Given the description of an element on the screen output the (x, y) to click on. 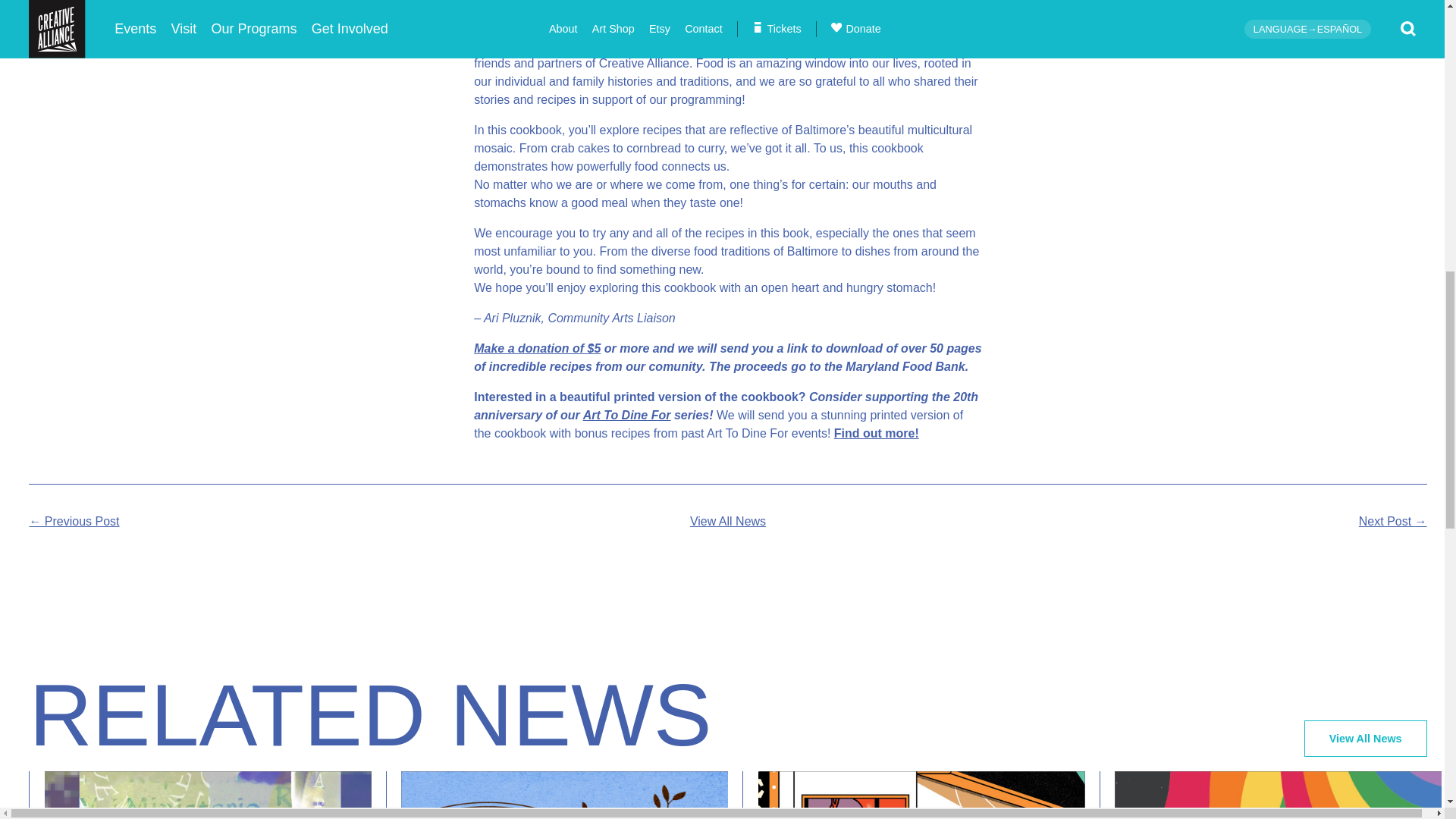
2024 Pride Month at Creative Alliance (1270, 795)
NEWS (580, 714)
Announcing Art To Dine For 2024! (557, 795)
Announcing Art To Dine For 2024! (564, 795)
The BIG Show 2024! (913, 795)
2024 Pride Month at Creative Alliance (1278, 795)
The BIG Show 2024! (921, 795)
